Given the description of an element on the screen output the (x, y) to click on. 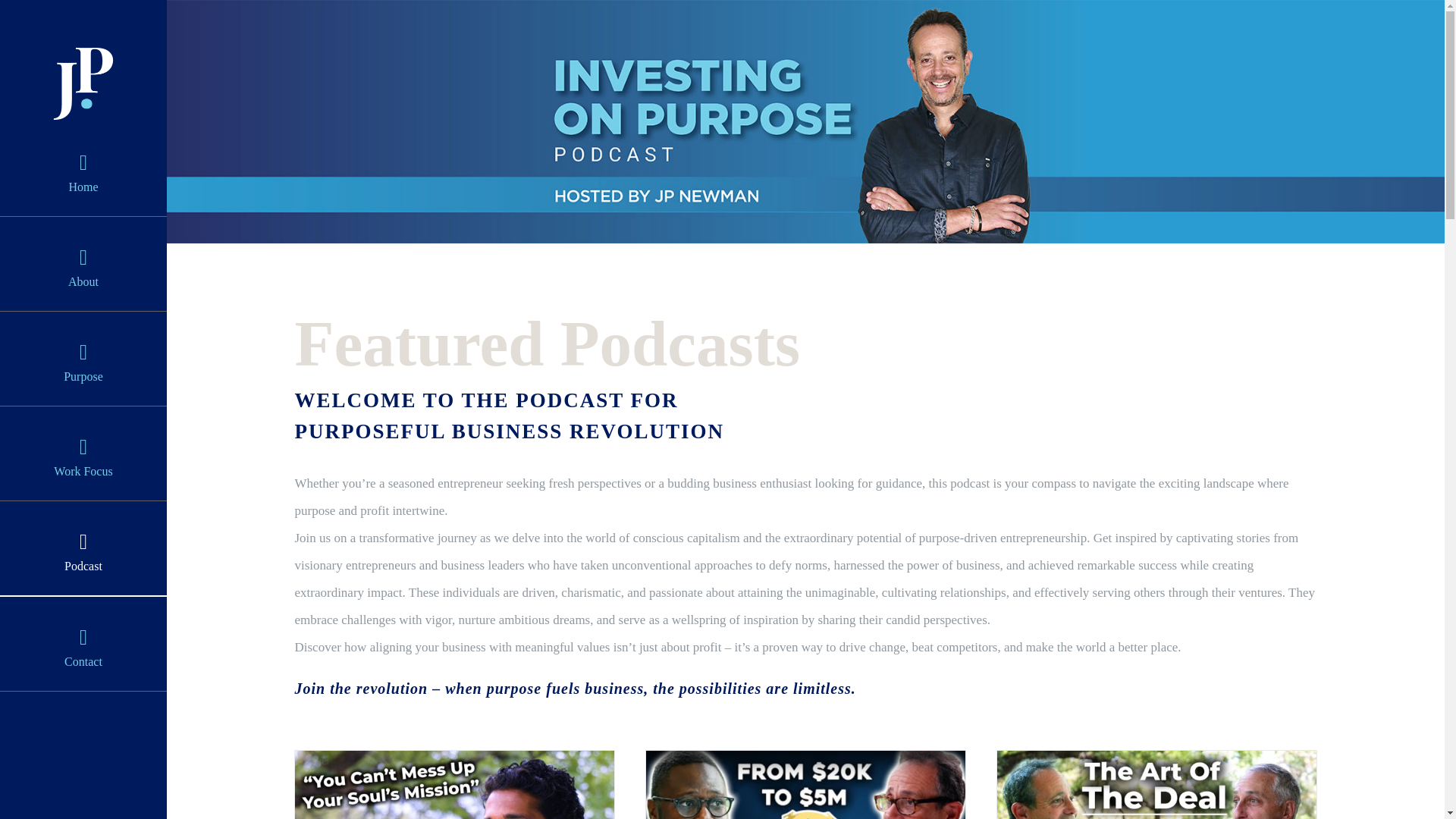
Contact (83, 643)
Home (83, 168)
About (83, 264)
Work Focus (83, 453)
Podcast (83, 548)
Purpose (83, 358)
